Given the description of an element on the screen output the (x, y) to click on. 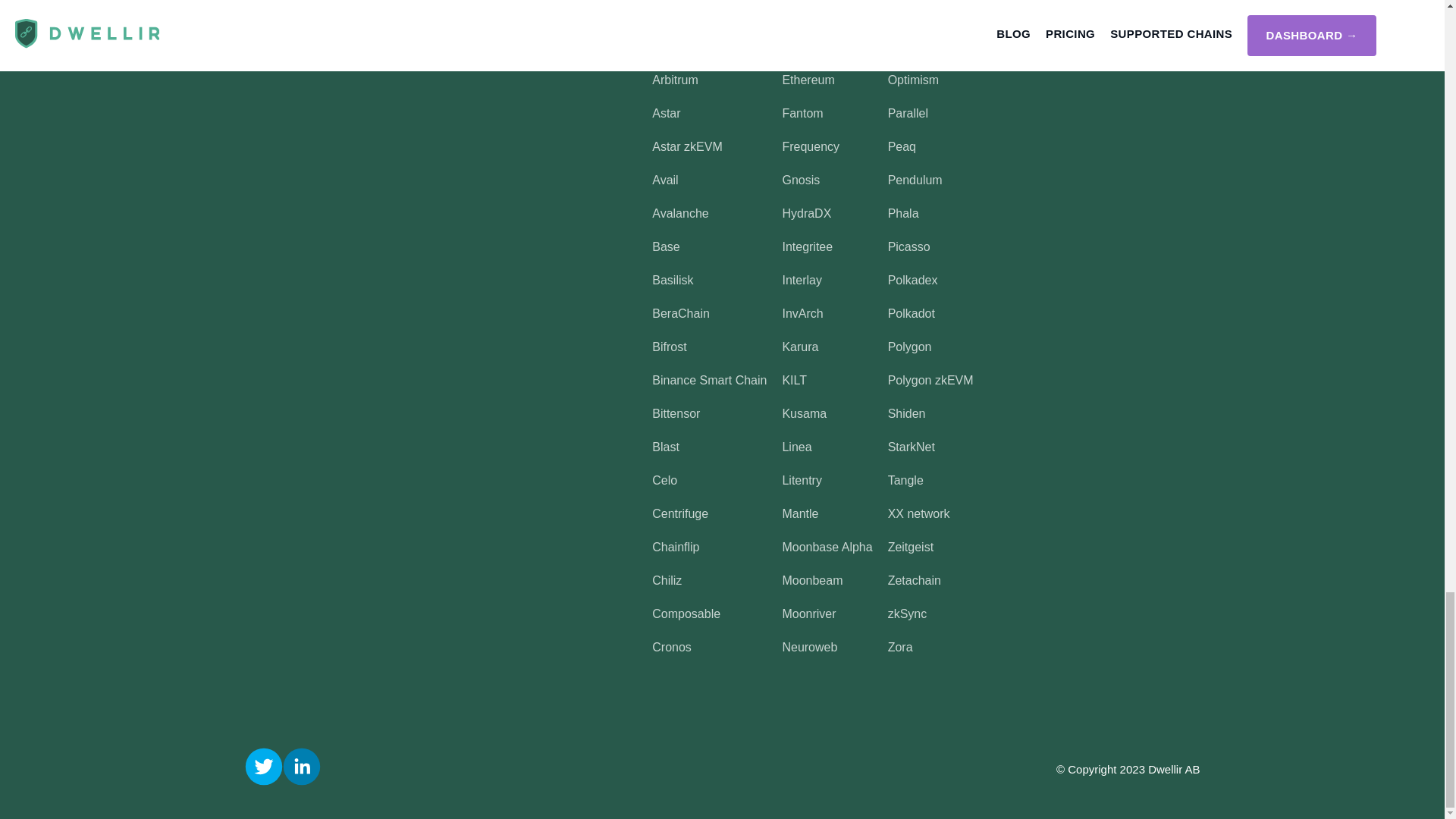
Enjin (795, 12)
Equilibrium (811, 46)
Avalanche (679, 213)
Centrifuge (679, 513)
Ethereum (807, 79)
Frequency (810, 146)
Astar zkEVM (687, 146)
Amplitude (679, 46)
Public RPC Endpoints (479, 6)
Binance Smart Chain (709, 379)
